Given the description of an element on the screen output the (x, y) to click on. 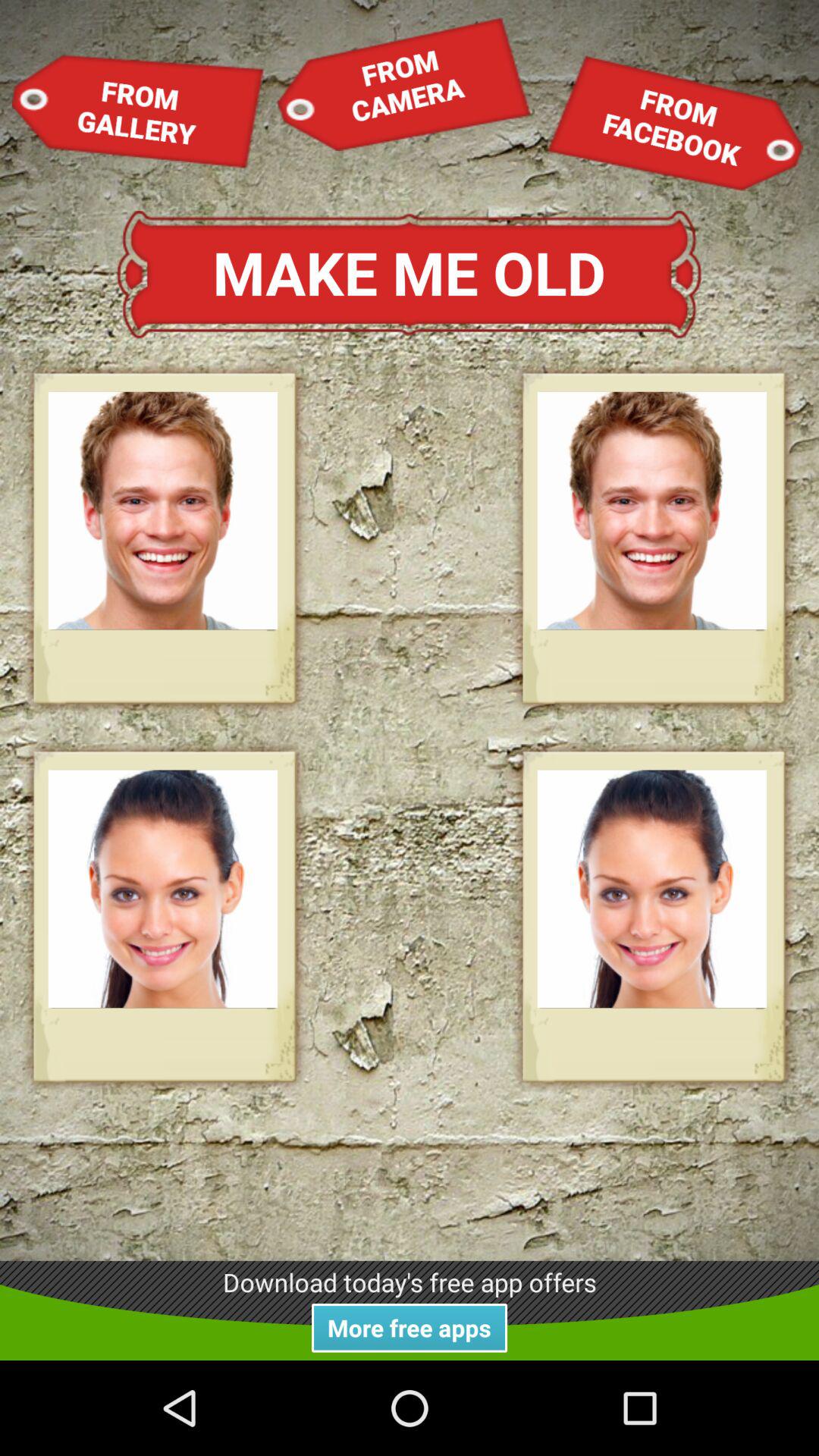
press the icon to the left of the from
facebook (403, 83)
